Given the description of an element on the screen output the (x, y) to click on. 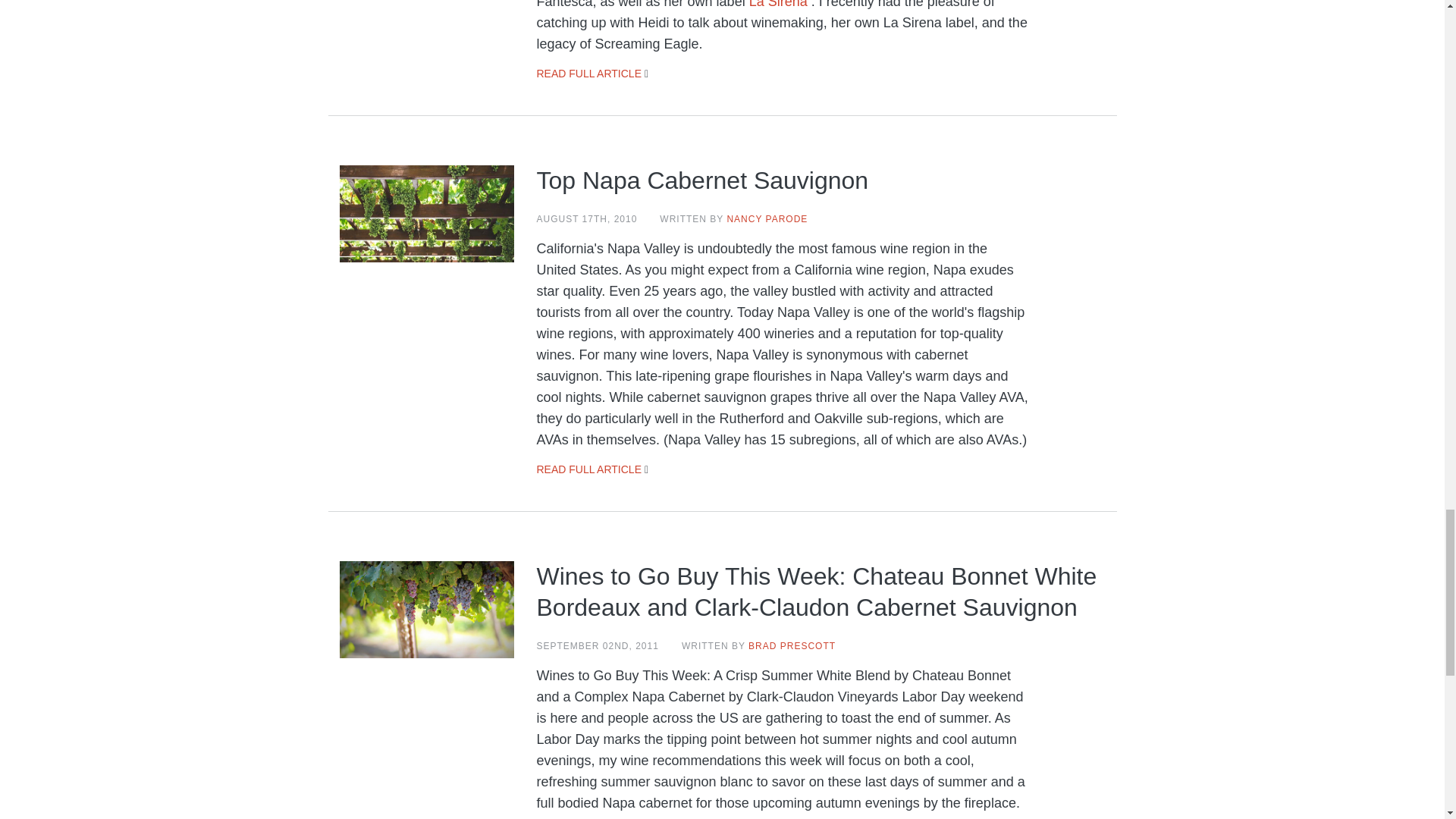
View user profile. (767, 218)
